Given the description of an element on the screen output the (x, y) to click on. 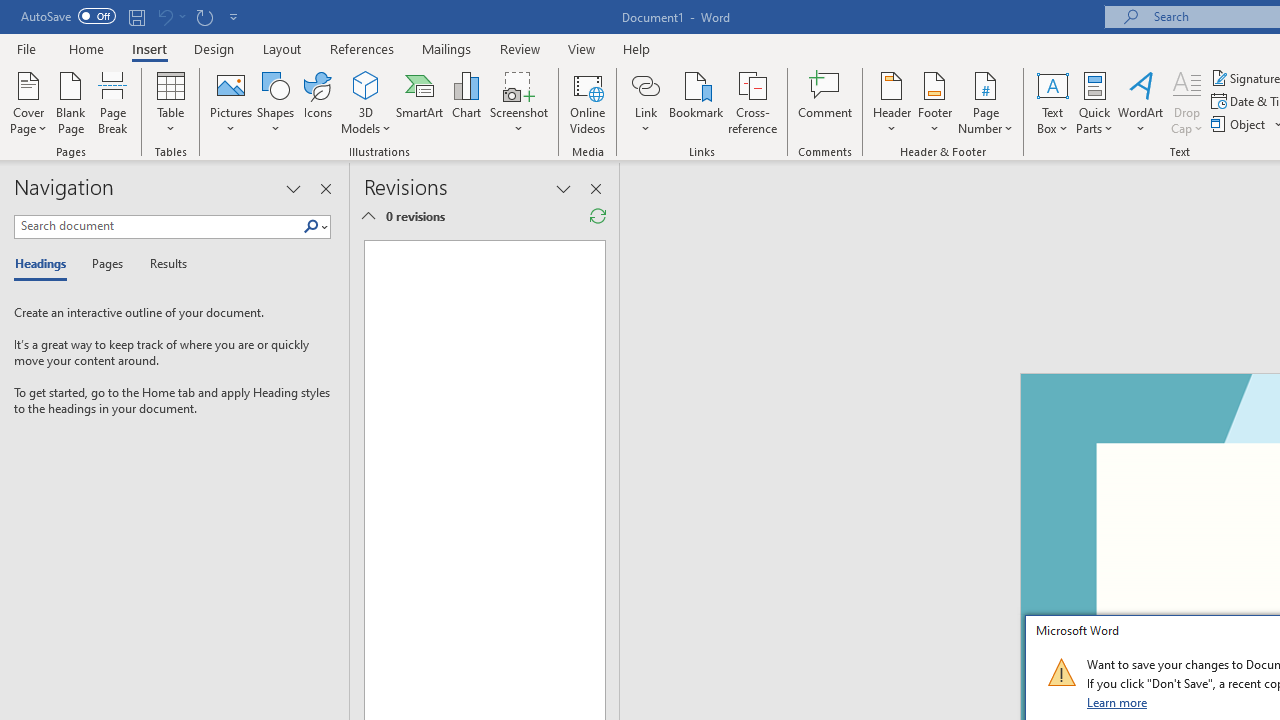
Can't Undo (170, 15)
SmartArt... (419, 102)
Footer (934, 102)
Bookmark... (695, 102)
Object... (1240, 124)
Blank Page (70, 102)
WordArt (1141, 102)
Pictures (230, 102)
